Given the description of an element on the screen output the (x, y) to click on. 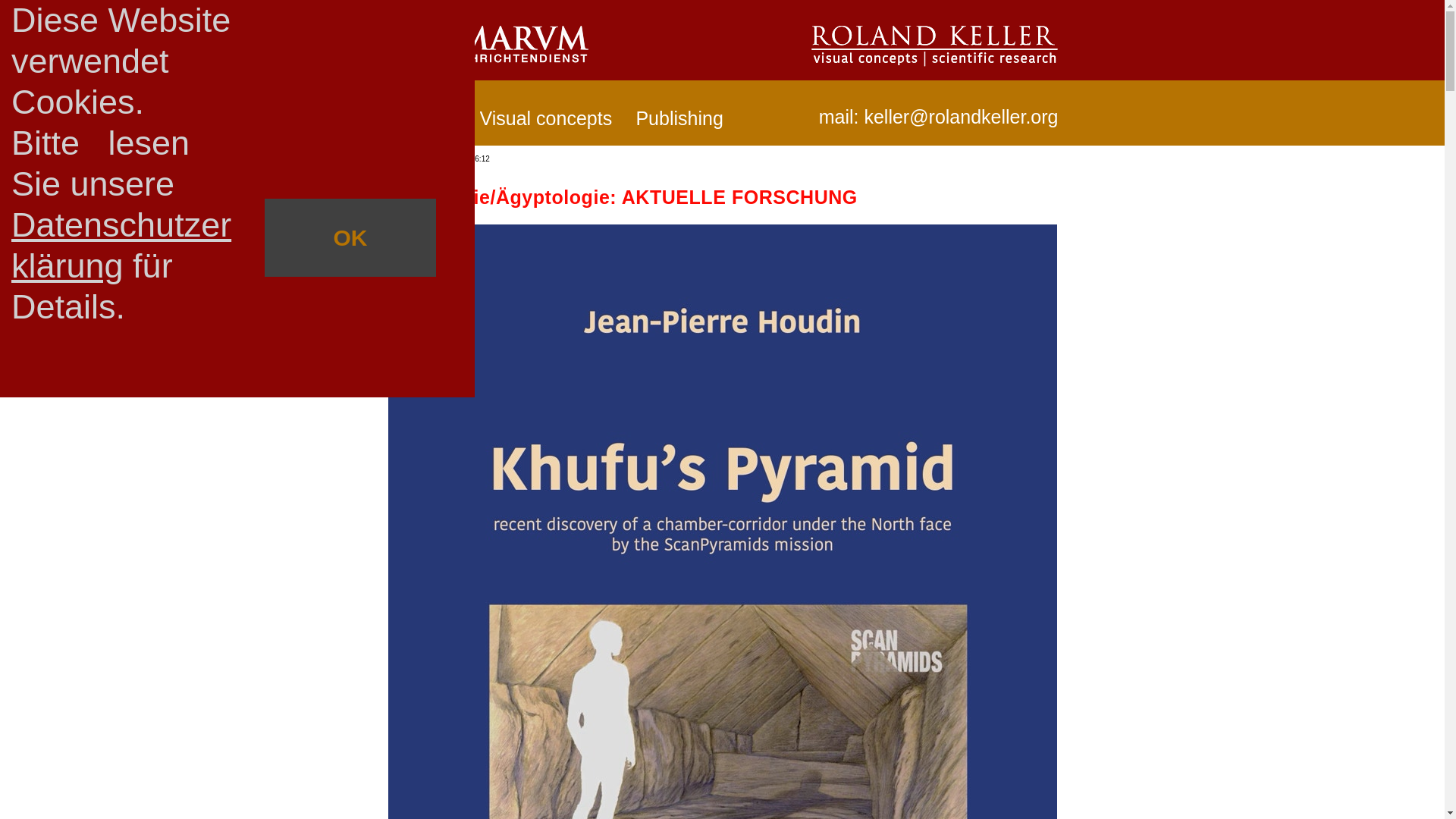
 Publishing Element type: text (684, 122)
ktualisiert: Element type: text (410, 158)
24.11.2023 06:11 Element type: text (459, 158)
Science Element type: text (427, 122)
mail: keller@rolandkeller.org Element type: text (934, 120)
Visual concepts Element type: text (548, 122)
